Given the description of an element on the screen output the (x, y) to click on. 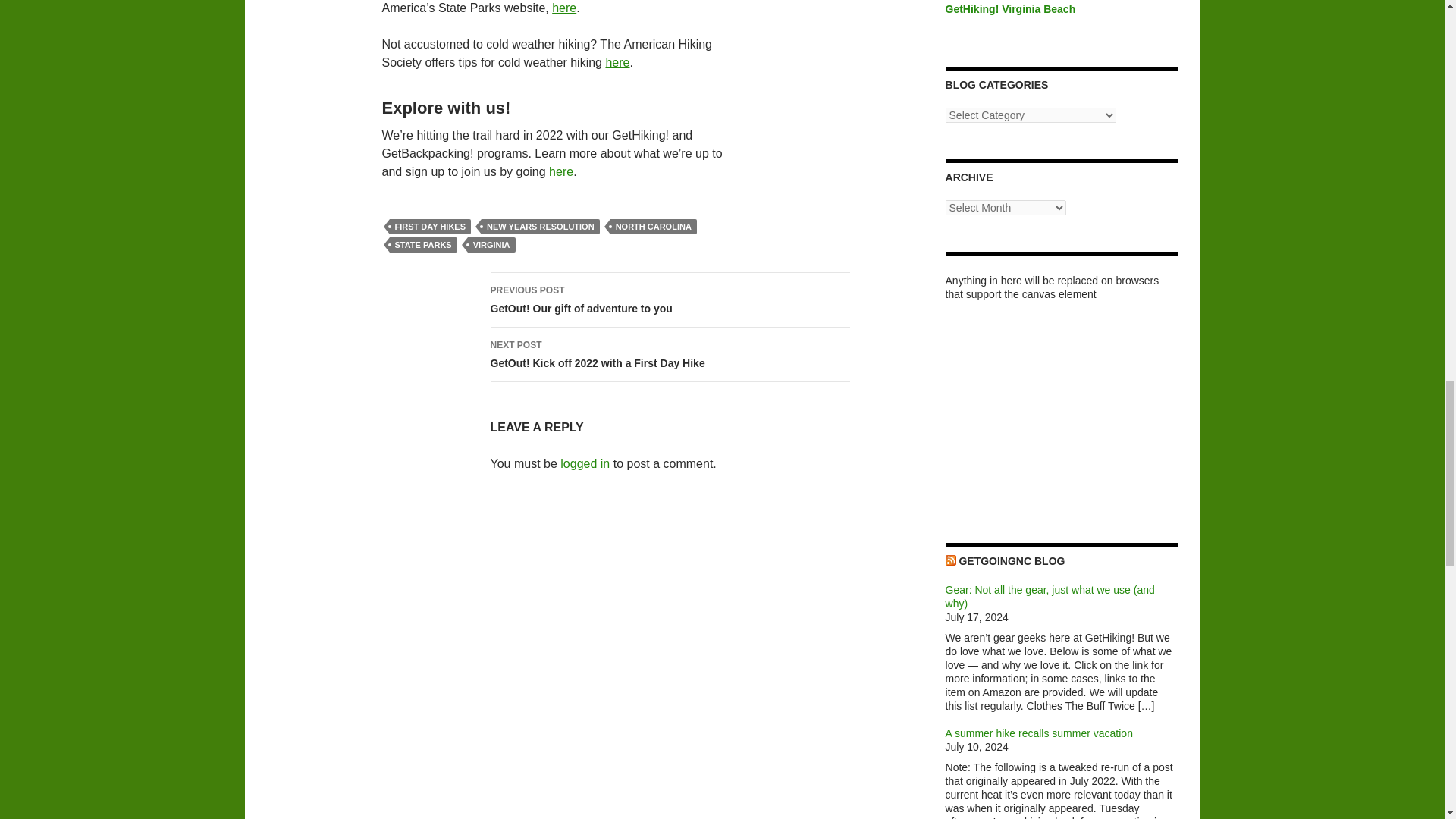
logged in (585, 463)
here (668, 299)
here (563, 7)
NORTH CAROLINA (560, 171)
VIRGINIA (653, 226)
STATE PARKS (491, 244)
here (668, 354)
FIRST DAY HIKES (423, 244)
NEW YEARS RESOLUTION (616, 62)
